Given the description of an element on the screen output the (x, y) to click on. 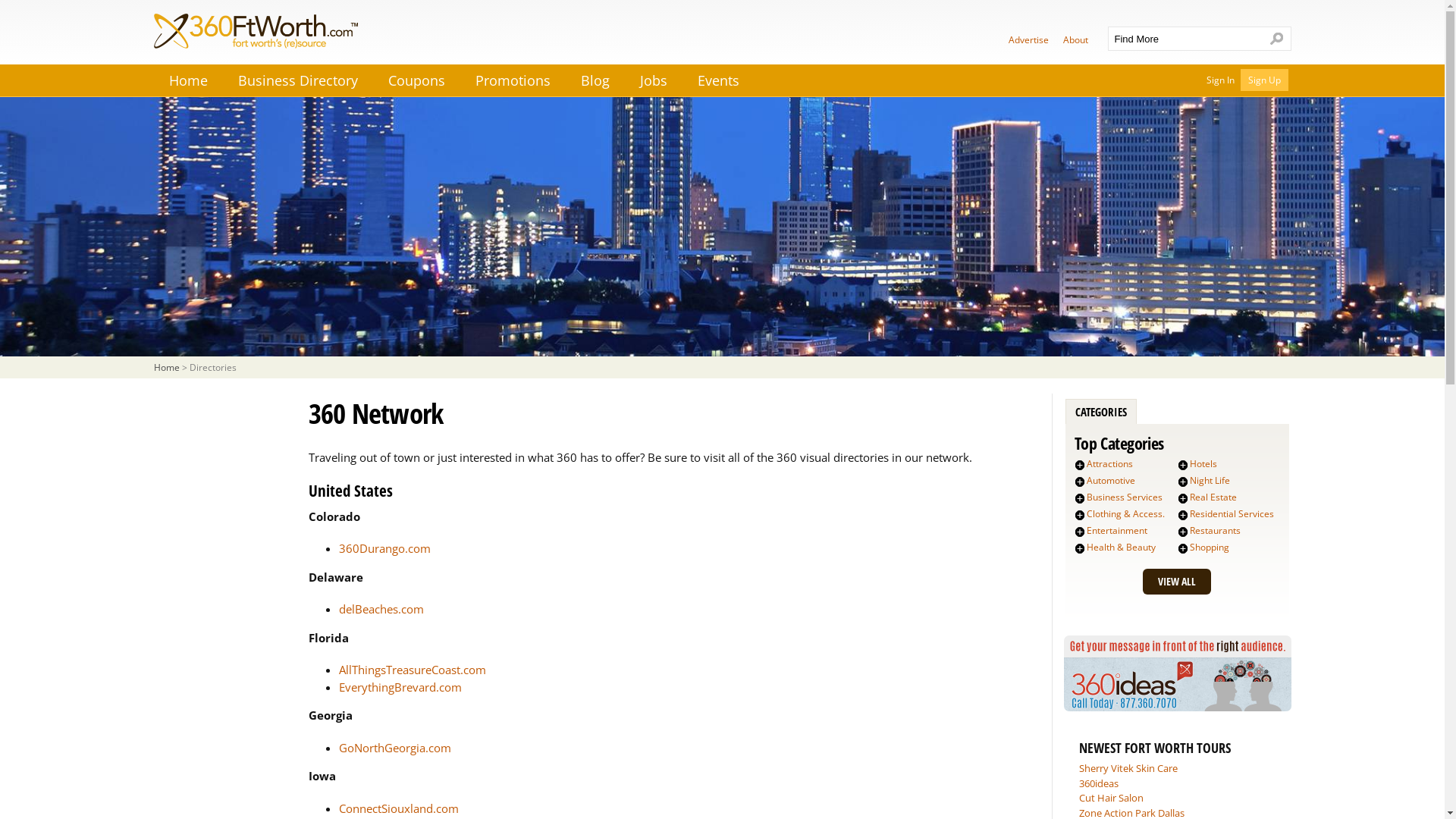
Residential Services Element type: text (1231, 513)
Sign In Element type: text (1219, 78)
Promotions Element type: text (511, 79)
+ Element type: text (1182, 531)
About Element type: text (1075, 39)
+ Element type: text (1182, 497)
Jobs Element type: text (653, 79)
Sherry Vitek Skin Care Element type: text (1127, 768)
360ideas Element type: hover (1176, 706)
+ Element type: text (1182, 514)
+ Element type: text (1079, 481)
Advertise Element type: text (1028, 39)
Sign Up Element type: text (1264, 79)
+ Element type: text (1079, 514)
Business Directory Element type: text (297, 79)
+ Element type: text (1079, 464)
Entertainment Element type: text (1116, 530)
+ Element type: text (1182, 481)
Night Life Element type: text (1209, 479)
360ideas Element type: text (1097, 783)
Cut Hair Salon Element type: text (1110, 797)
Restaurants Element type: text (1214, 530)
Events Element type: text (718, 79)
EverythingBrevard.com Element type: text (399, 686)
Business Services Element type: text (1124, 496)
+ Element type: text (1182, 547)
Attractions Element type: text (1109, 463)
Find More Element type: hover (1184, 38)
Health & Beauty Element type: text (1120, 546)
Coupons Element type: text (416, 79)
Real Estate Element type: text (1212, 496)
GoNorthGeorgia.com Element type: text (394, 747)
Hotels Element type: text (1203, 463)
VIEW ALL Element type: text (1176, 581)
+ Element type: text (1079, 547)
ConnectSiouxland.com Element type: text (398, 807)
AllThingsTreasureCoast.com Element type: text (411, 669)
360Durango.com Element type: text (383, 547)
Home Element type: text (165, 366)
Shopping Element type: text (1209, 546)
+ Element type: text (1079, 531)
delBeaches.com Element type: text (380, 608)
+ Element type: text (1182, 464)
Clothing & Access. Element type: text (1125, 513)
+ Element type: text (1079, 497)
Blog Element type: text (594, 79)
Search Element type: text (1276, 38)
Home Element type: text (187, 79)
CATEGORIES Element type: text (1100, 411)
Fort Worth Nighttime Skyline Element type: hover (722, 227)
Automotive Element type: text (1110, 479)
